Given the description of an element on the screen output the (x, y) to click on. 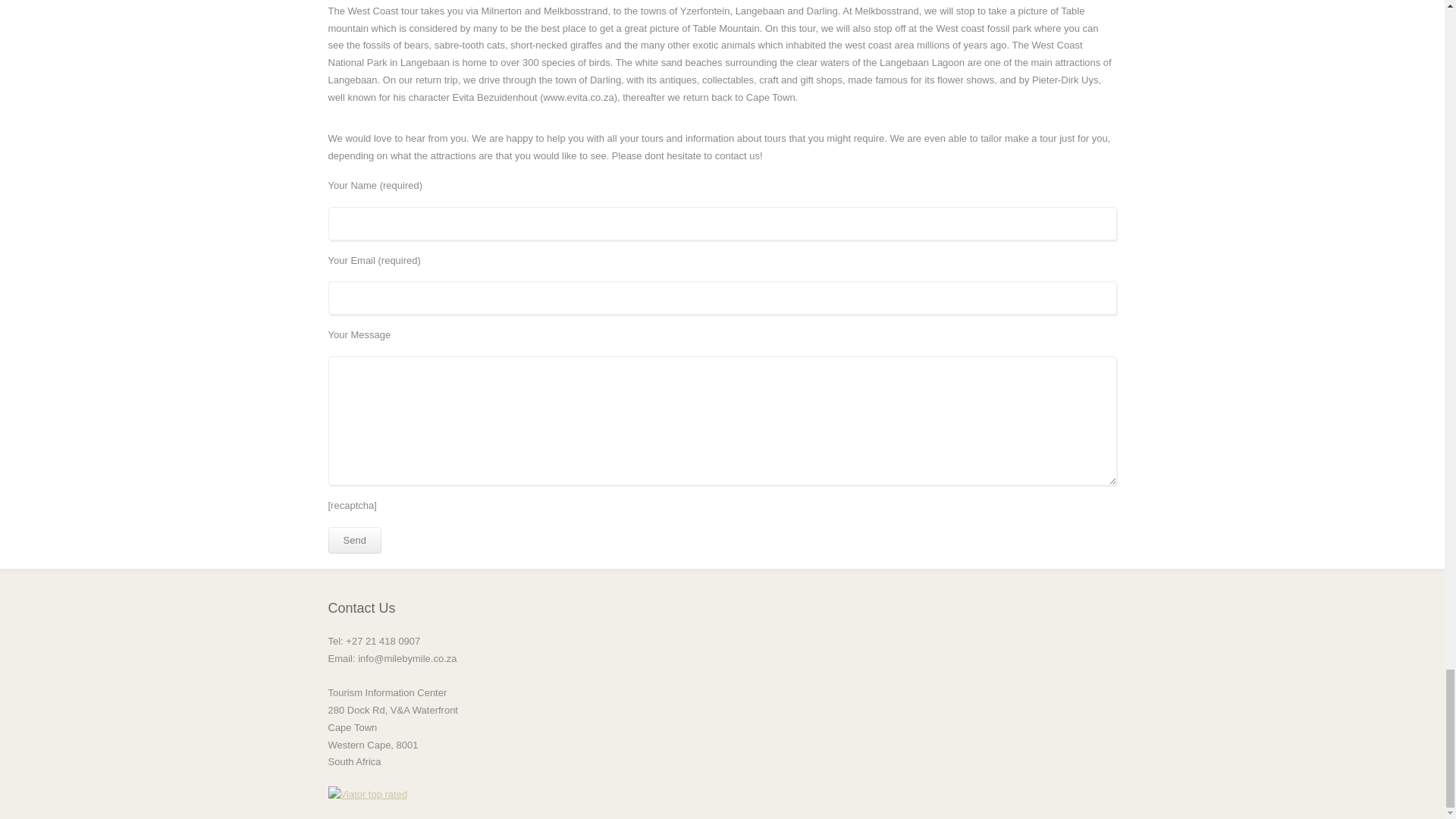
Send (353, 540)
